Given the description of an element on the screen output the (x, y) to click on. 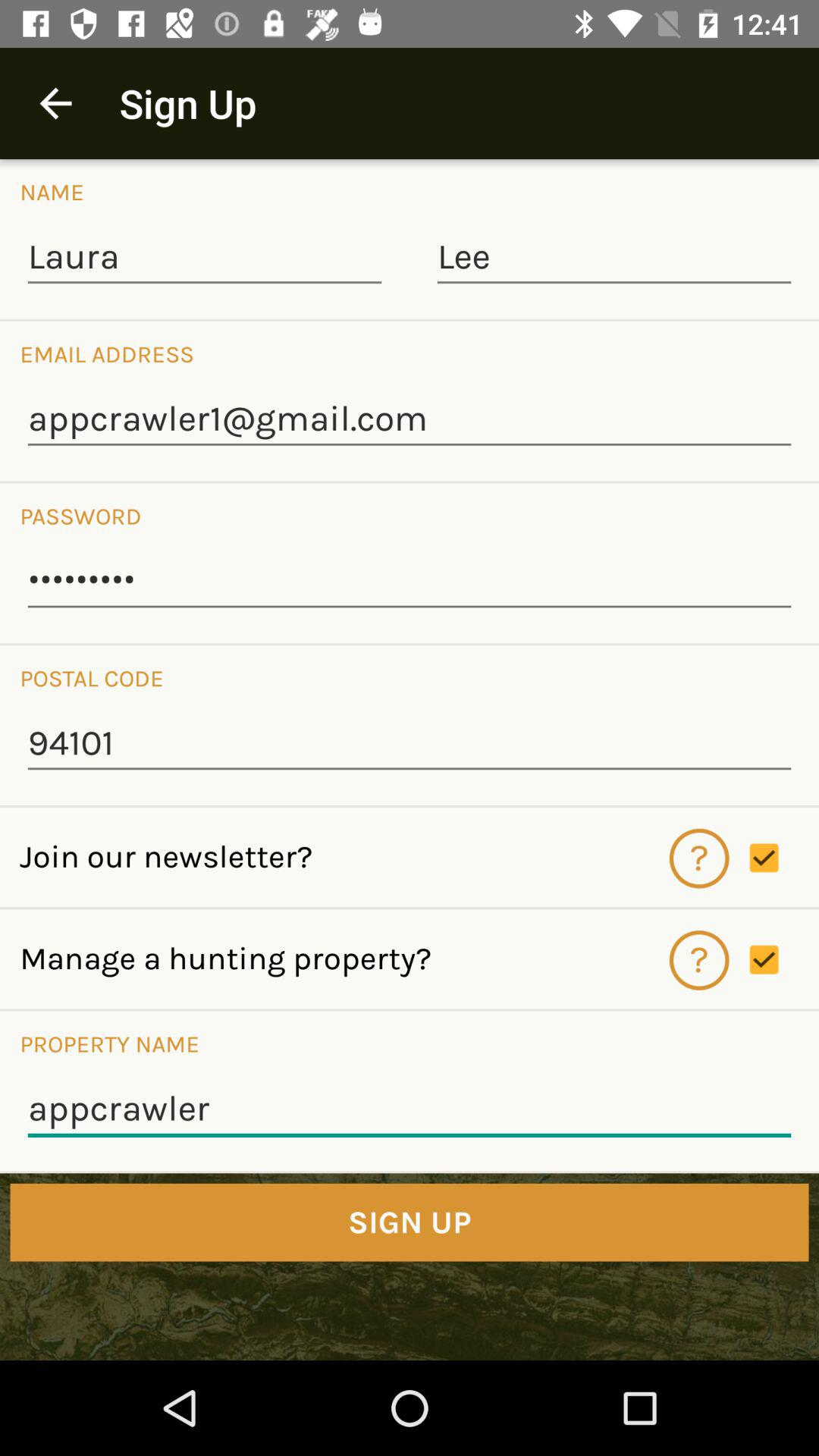
enable disable option (784, 857)
